Given the description of an element on the screen output the (x, y) to click on. 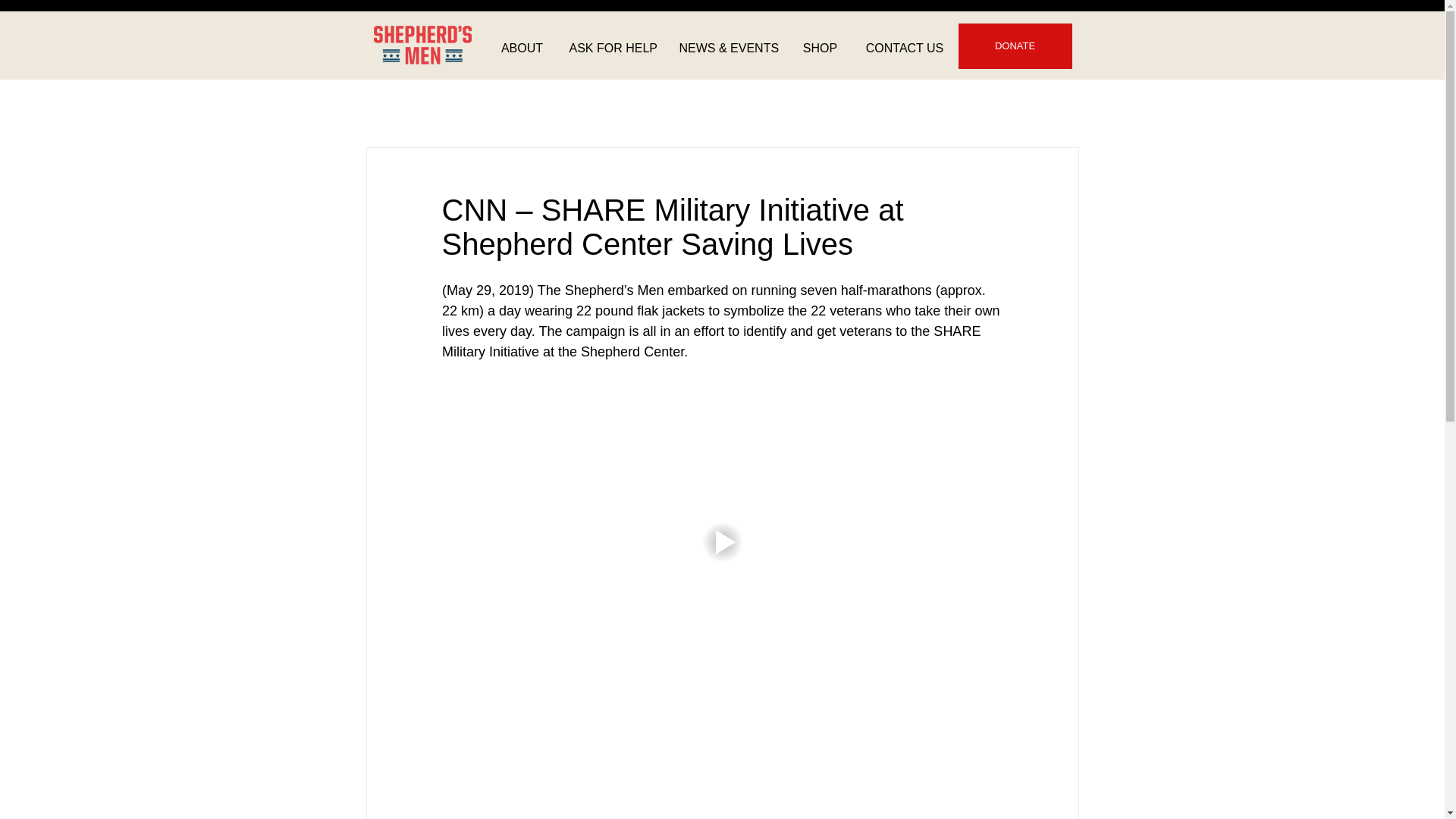
DONATE (1014, 45)
ASK FOR HELP (612, 48)
CONTACT US (904, 48)
SHOP (819, 48)
